Given the description of an element on the screen output the (x, y) to click on. 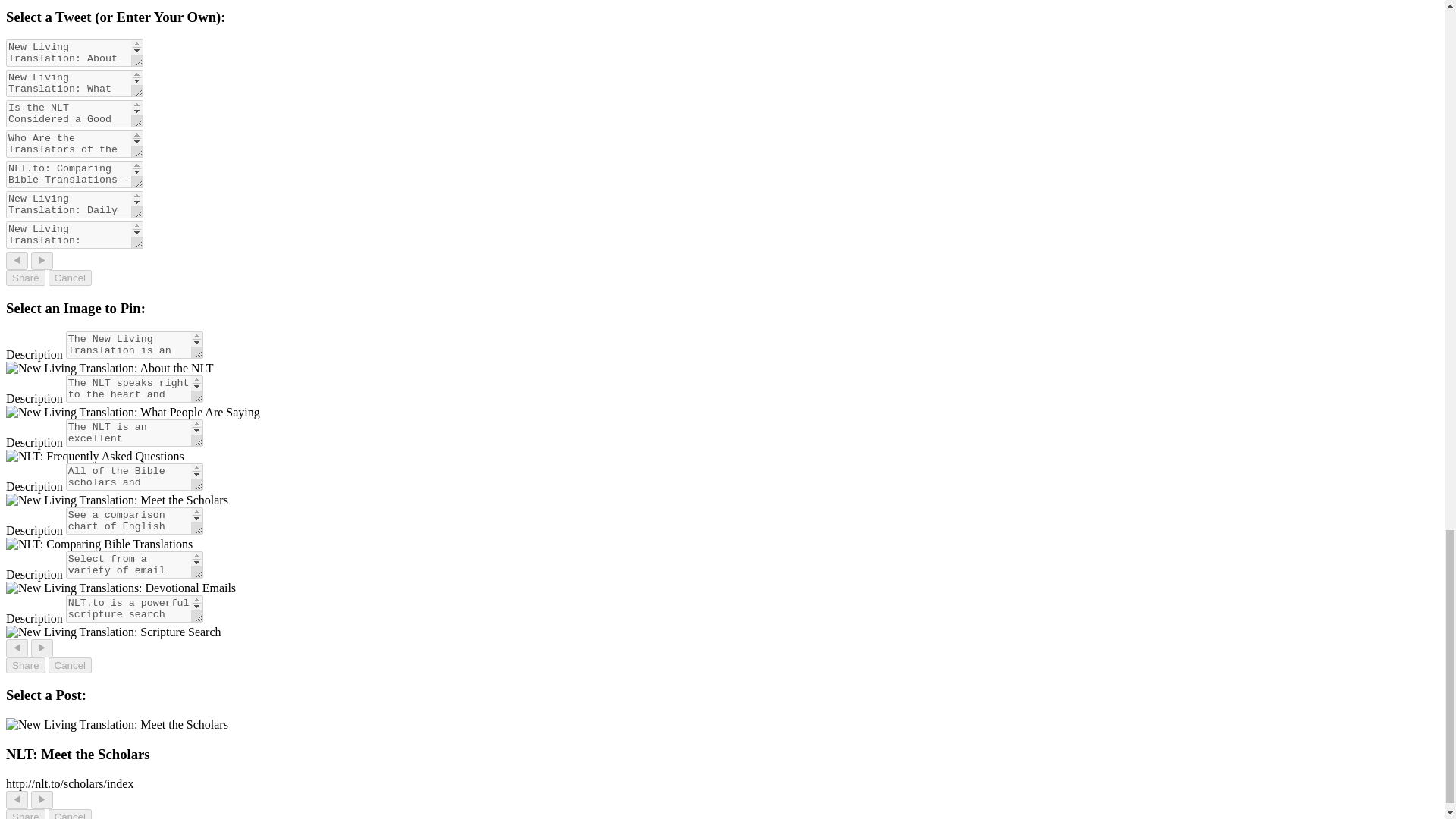
Share (25, 277)
Cancel (70, 277)
